Given the description of an element on the screen output the (x, y) to click on. 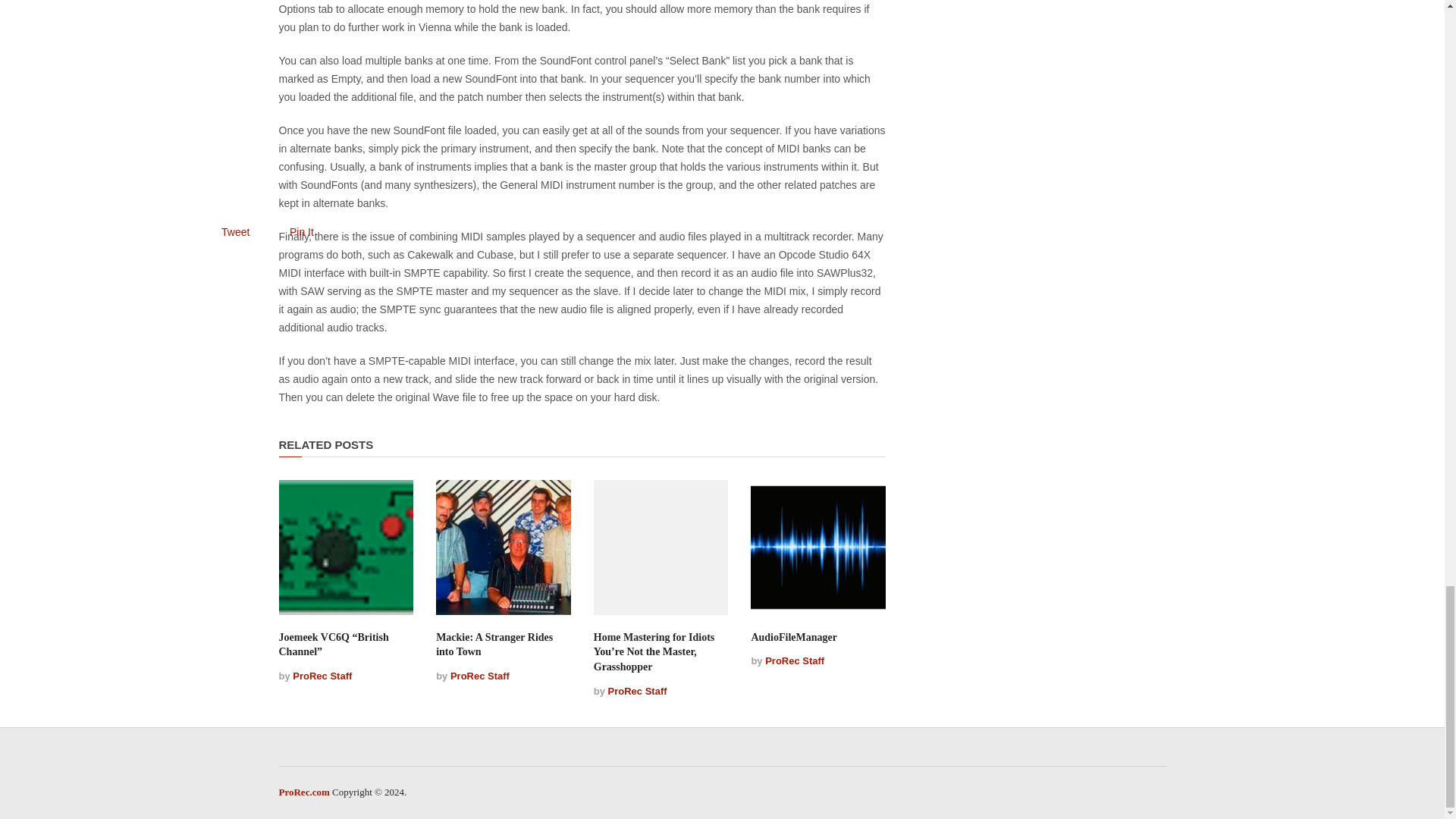
Mackie: A Stranger Rides into Town (494, 644)
Posts by ProRec Staff (637, 690)
Posts by ProRec Staff (794, 660)
Posts by ProRec Staff (479, 675)
Mackie: A Stranger Rides into Town (502, 547)
AudioFileManager (818, 547)
Posts by ProRec Staff (322, 675)
AudioFileManager (794, 636)
